Given the description of an element on the screen output the (x, y) to click on. 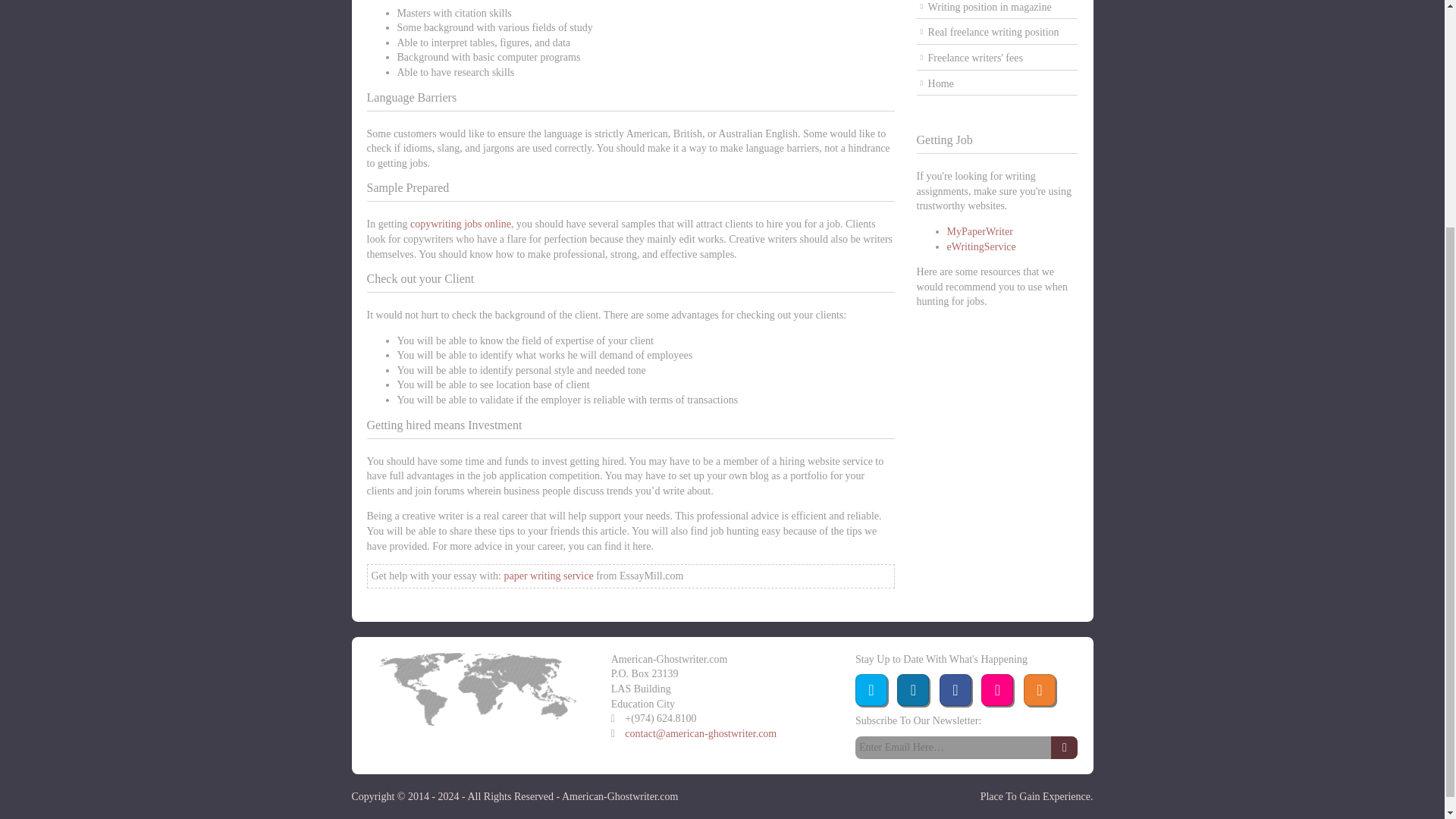
Freelance Writers' Salaries: What Is Important To Know (997, 58)
In Search Of A Real Freelance Writing Jobs On The Web (997, 33)
Sign Up (1064, 747)
In Search Of Freelance Writing Positions In Magazines (997, 9)
A Free Online Resource For Freelance Writers (997, 84)
